Given the description of an element on the screen output the (x, y) to click on. 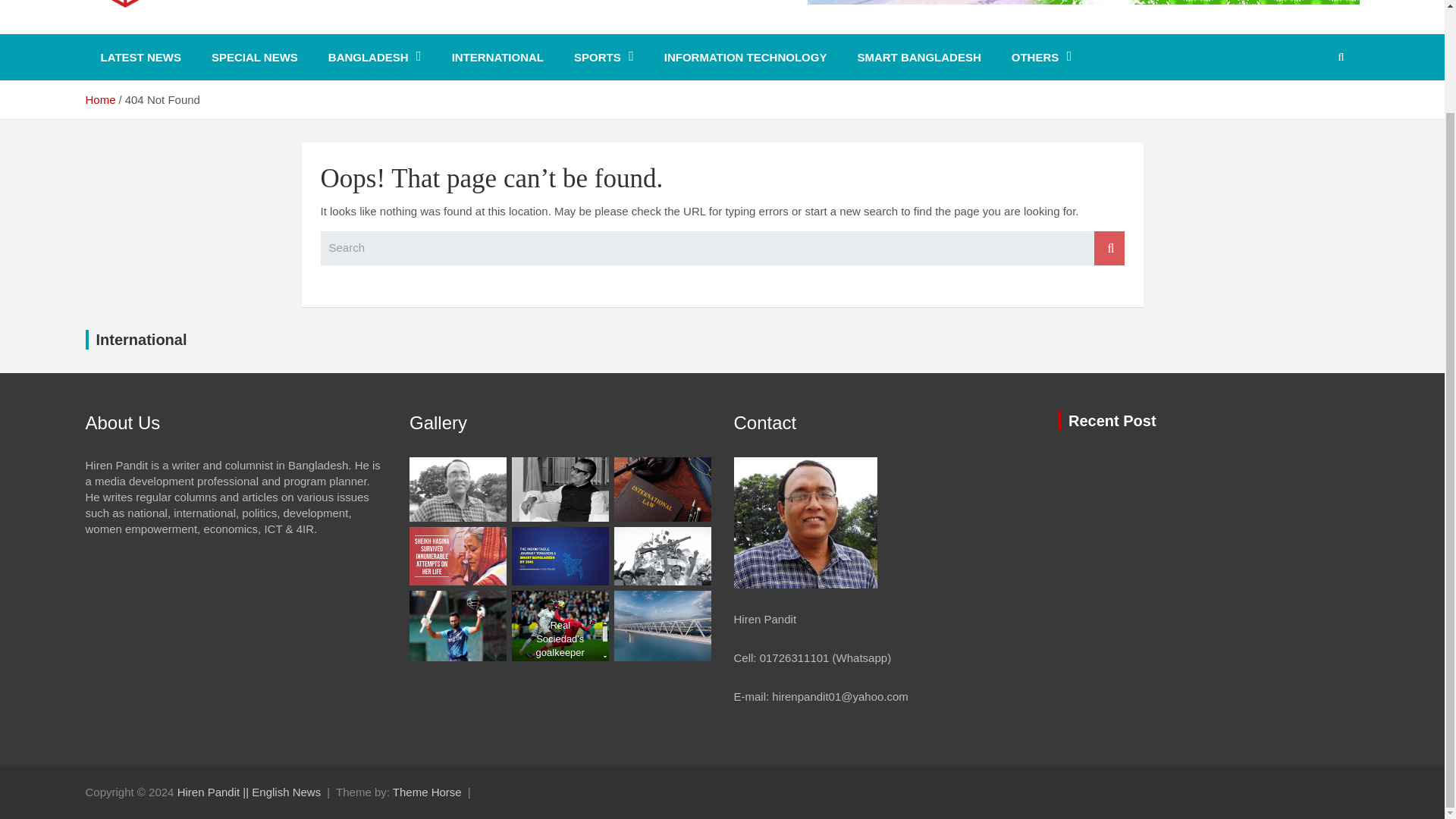
Home (99, 99)
BANGLADESH (374, 57)
SPECIAL NEWS (254, 57)
Theme Horse (427, 791)
Recent Post (1112, 420)
INTERNATIONAL (497, 57)
SPORTS (604, 57)
INFORMATION TECHNOLOGY (746, 57)
LATEST NEWS (139, 57)
OTHERS (1041, 57)
